Given the description of an element on the screen output the (x, y) to click on. 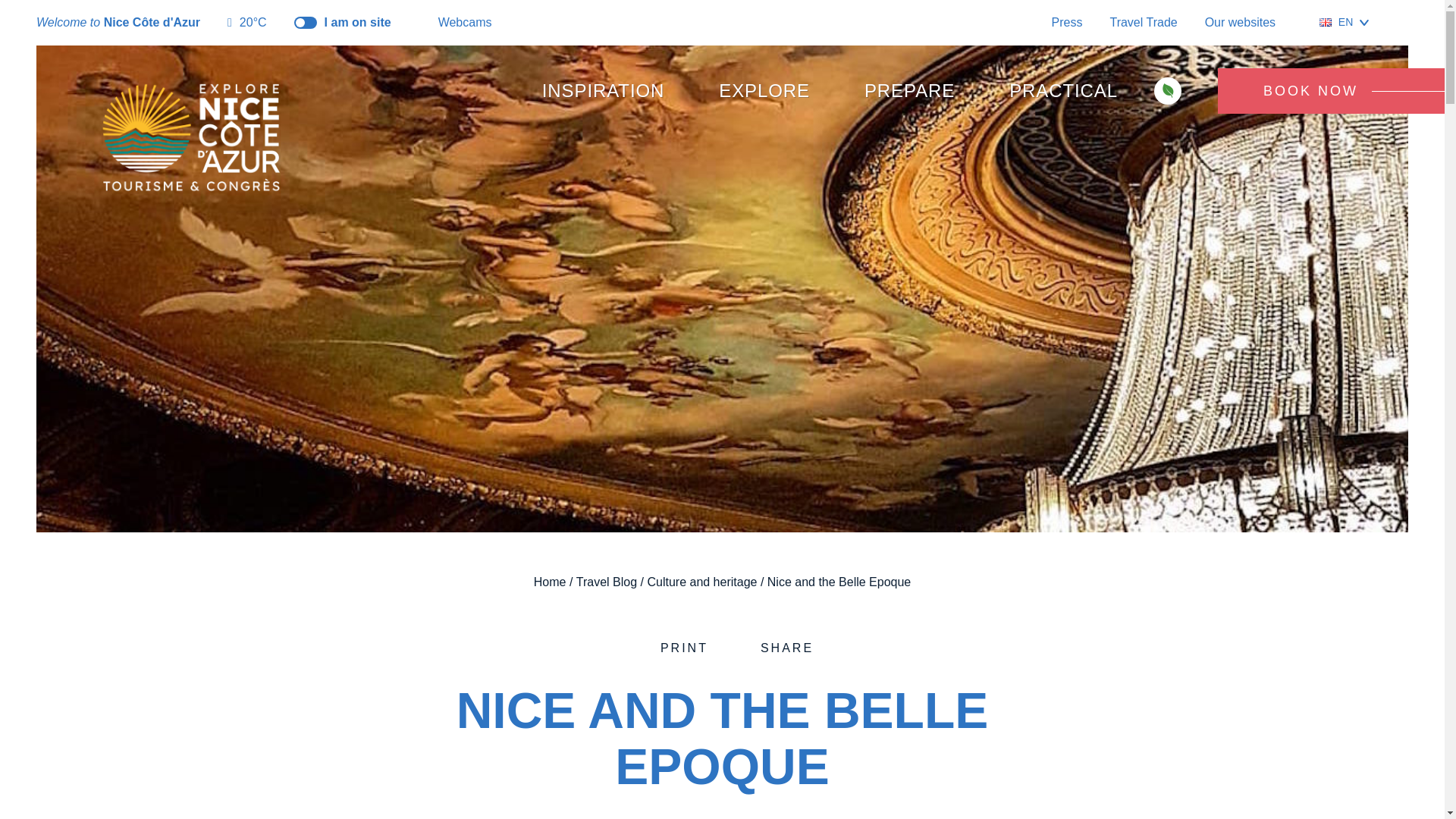
INSPIRATION (603, 90)
Our websites (1248, 22)
Travel Trade (1142, 21)
Webcams (454, 22)
EN (1343, 22)
I am on site (342, 22)
Press (1067, 21)
